Given the description of an element on the screen output the (x, y) to click on. 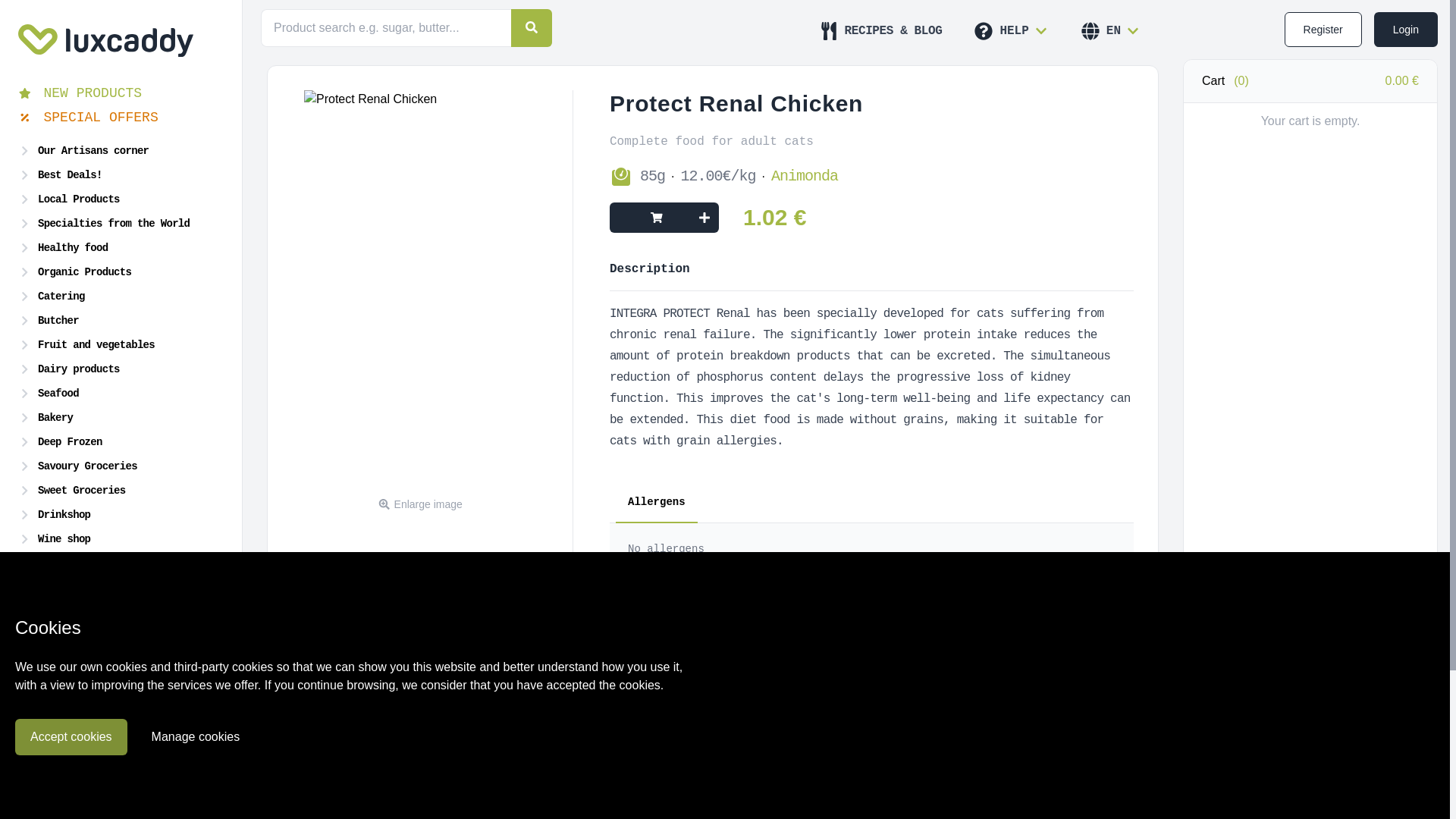
Seafood (120, 393)
Best Deals! (120, 175)
Body care (120, 563)
Animonda (804, 176)
Pets (120, 636)
Wine shop (120, 538)
Fruit and vegetables (120, 344)
Dairy products (120, 369)
Sweet Groceries (120, 490)
Healthy food (120, 248)
Manage cookies (196, 737)
Accept cookies (71, 737)
Savoury Groceries (120, 466)
Deep Frozen (120, 442)
Register (1322, 29)
